Given the description of an element on the screen output the (x, y) to click on. 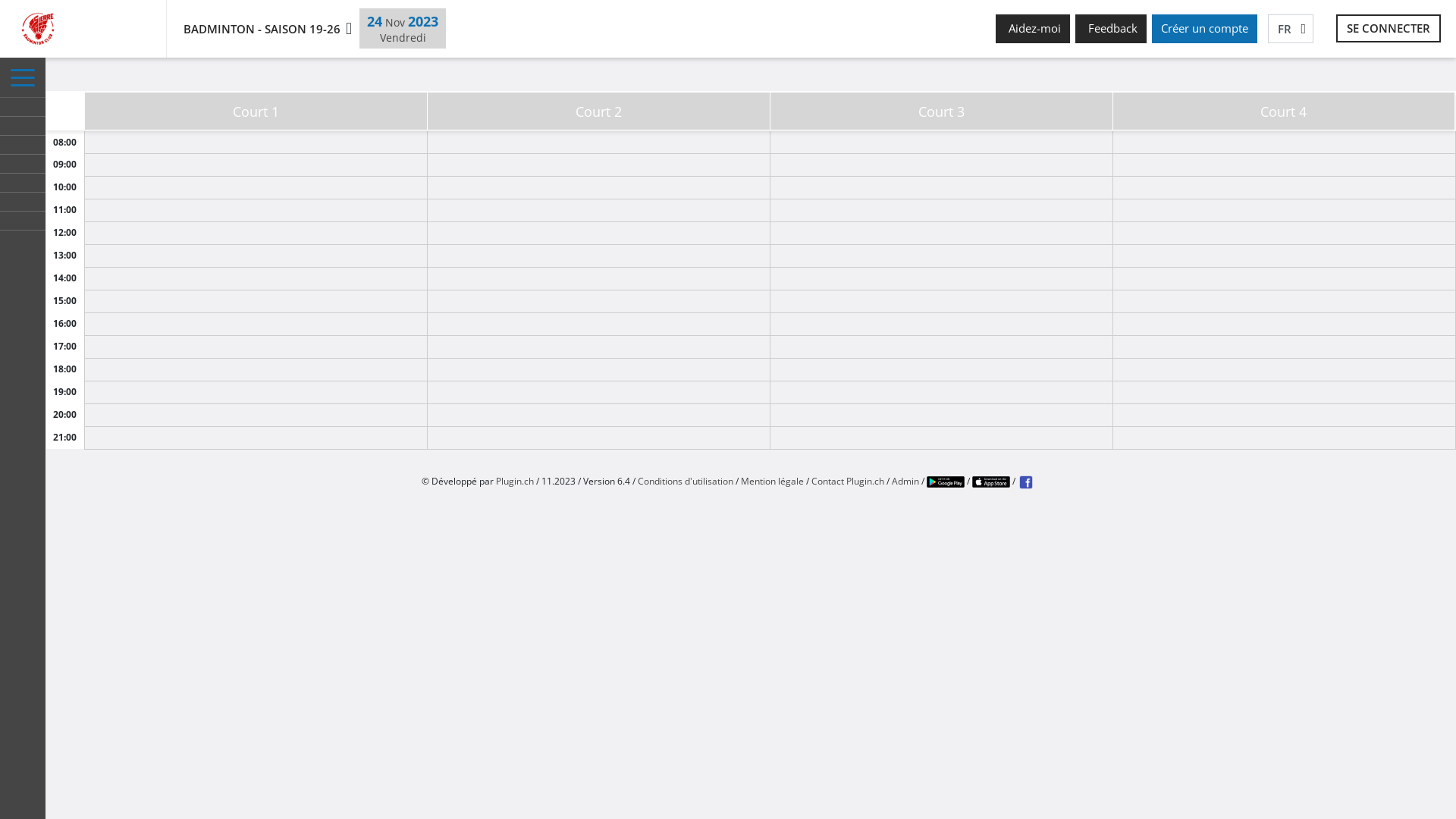
Plugin.ch Element type: text (514, 480)
Conditions d'utilisation Element type: text (685, 480)
Admin Element type: text (905, 480)
SE CONNECTER Element type: text (1388, 28)
Contact Plugin.ch Element type: text (847, 480)
Aidez-moi Element type: text (1032, 28)
Feedback Element type: text (1110, 28)
